Given the description of an element on the screen output the (x, y) to click on. 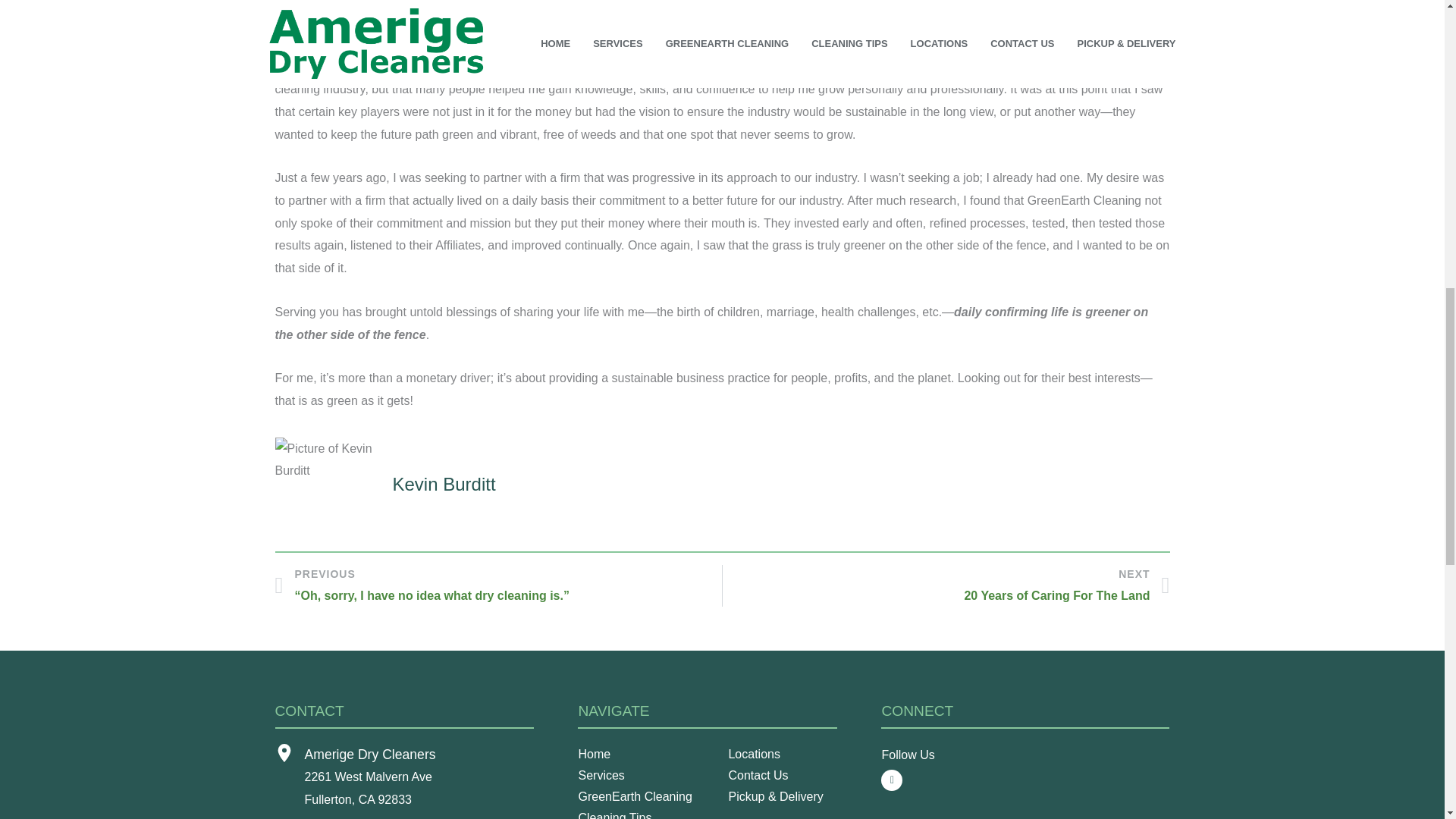
Locations (797, 753)
Services (647, 775)
Cleaning Tips (647, 813)
Home (647, 753)
GreenEarth Cleaning (647, 796)
